Given the description of an element on the screen output the (x, y) to click on. 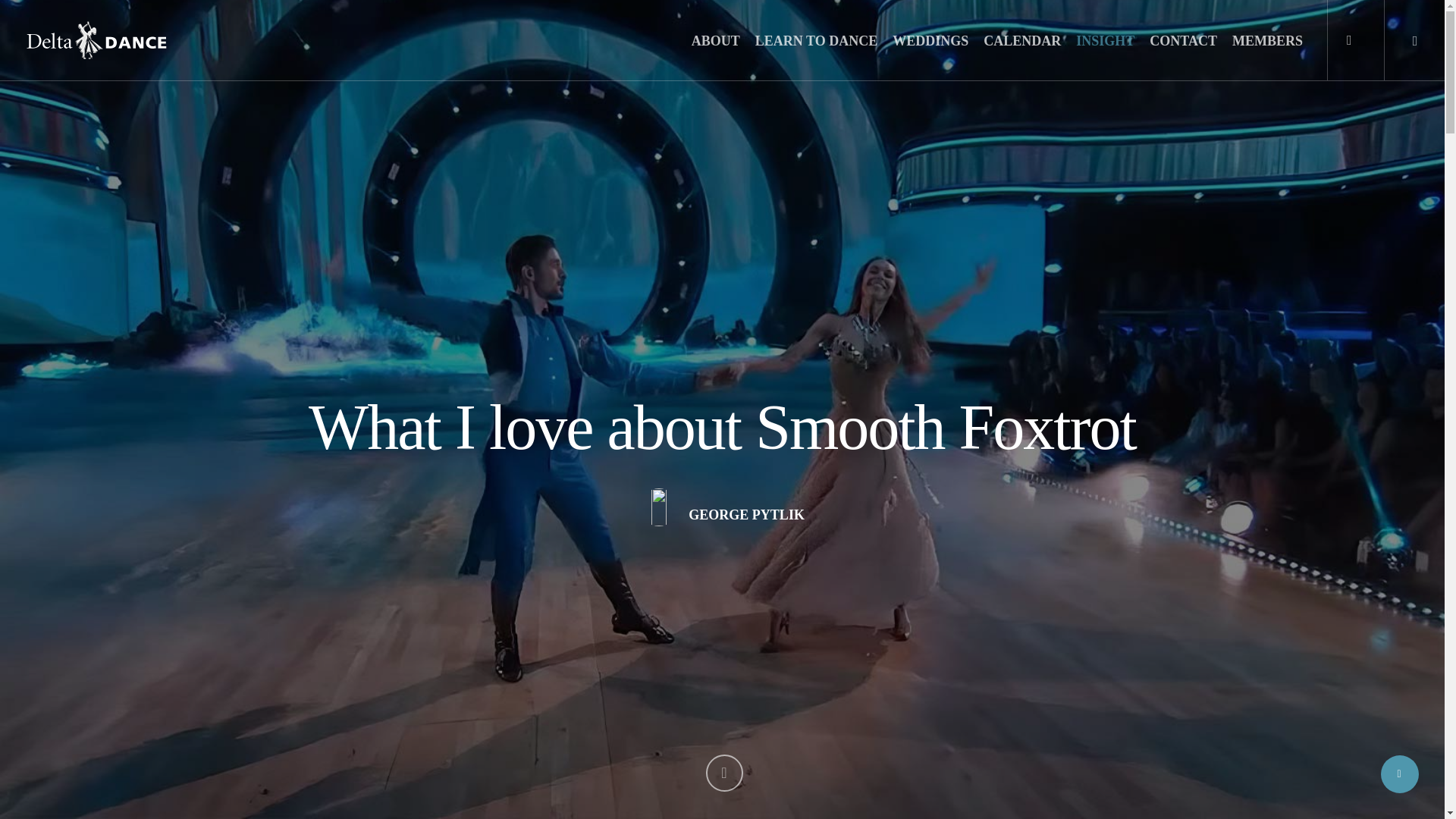
MEMBERS (1267, 40)
GEORGE PYTLIK (746, 514)
LEARN TO DANCE (816, 40)
ABOUT (716, 40)
WEDDINGS (930, 40)
Posts by George Pytlik (746, 514)
INSIGHT (1104, 40)
CALENDAR (1021, 40)
CONTACT (1182, 40)
